Given the description of an element on the screen output the (x, y) to click on. 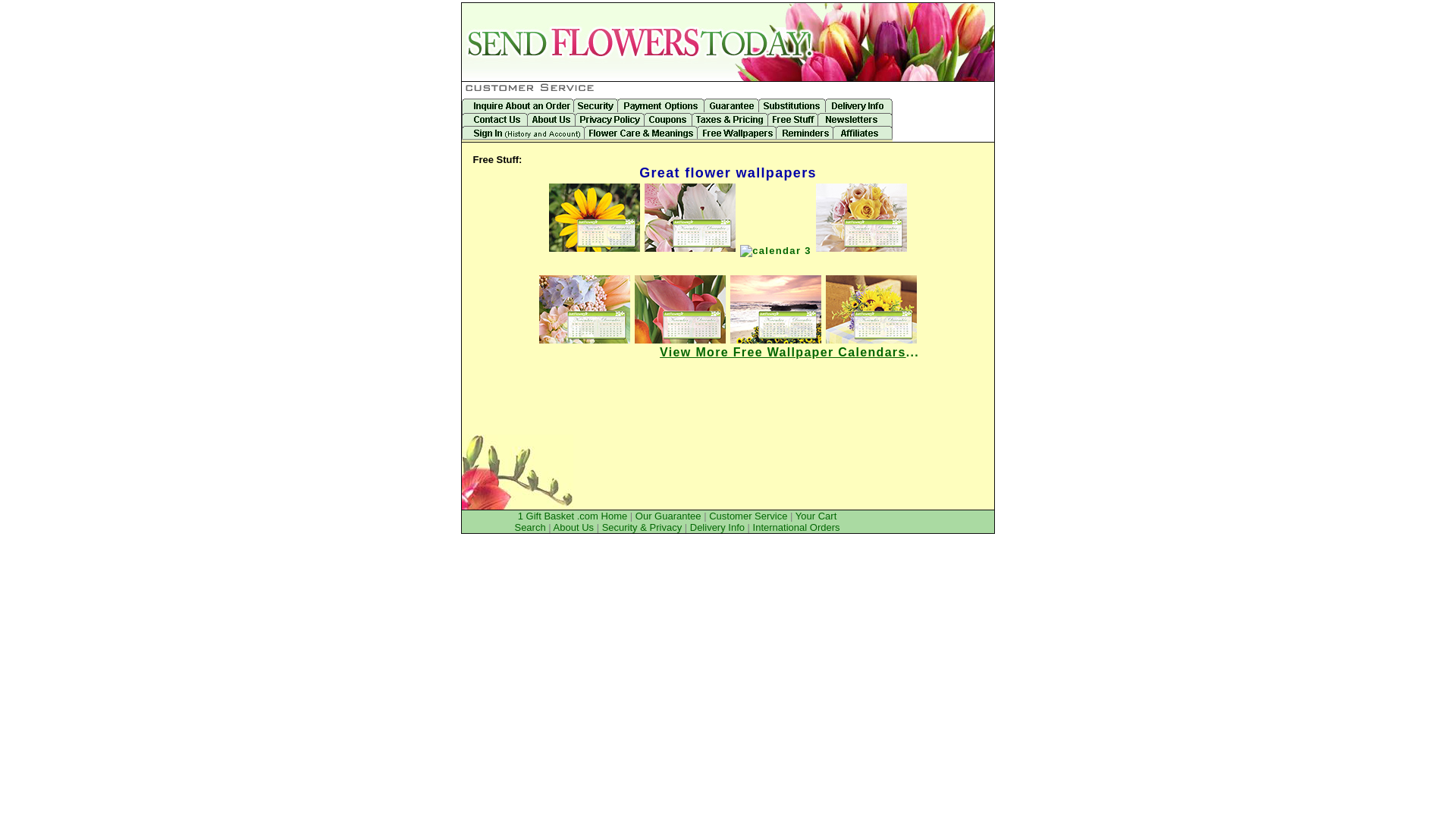
International Orders Element type: text (796, 527)
1 Gift Basket .com Home Element type: text (572, 515)
Security & Privacy Element type: text (641, 527)
About Us Element type: text (573, 527)
Search Element type: text (529, 527)
Delivery Info Element type: text (717, 527)
View More Free Wallpaper Calendars... Element type: text (789, 351)
Your Cart Element type: text (815, 515)
Our Guarantee Element type: text (668, 515)
Customer Service Element type: text (748, 515)
